Given the description of an element on the screen output the (x, y) to click on. 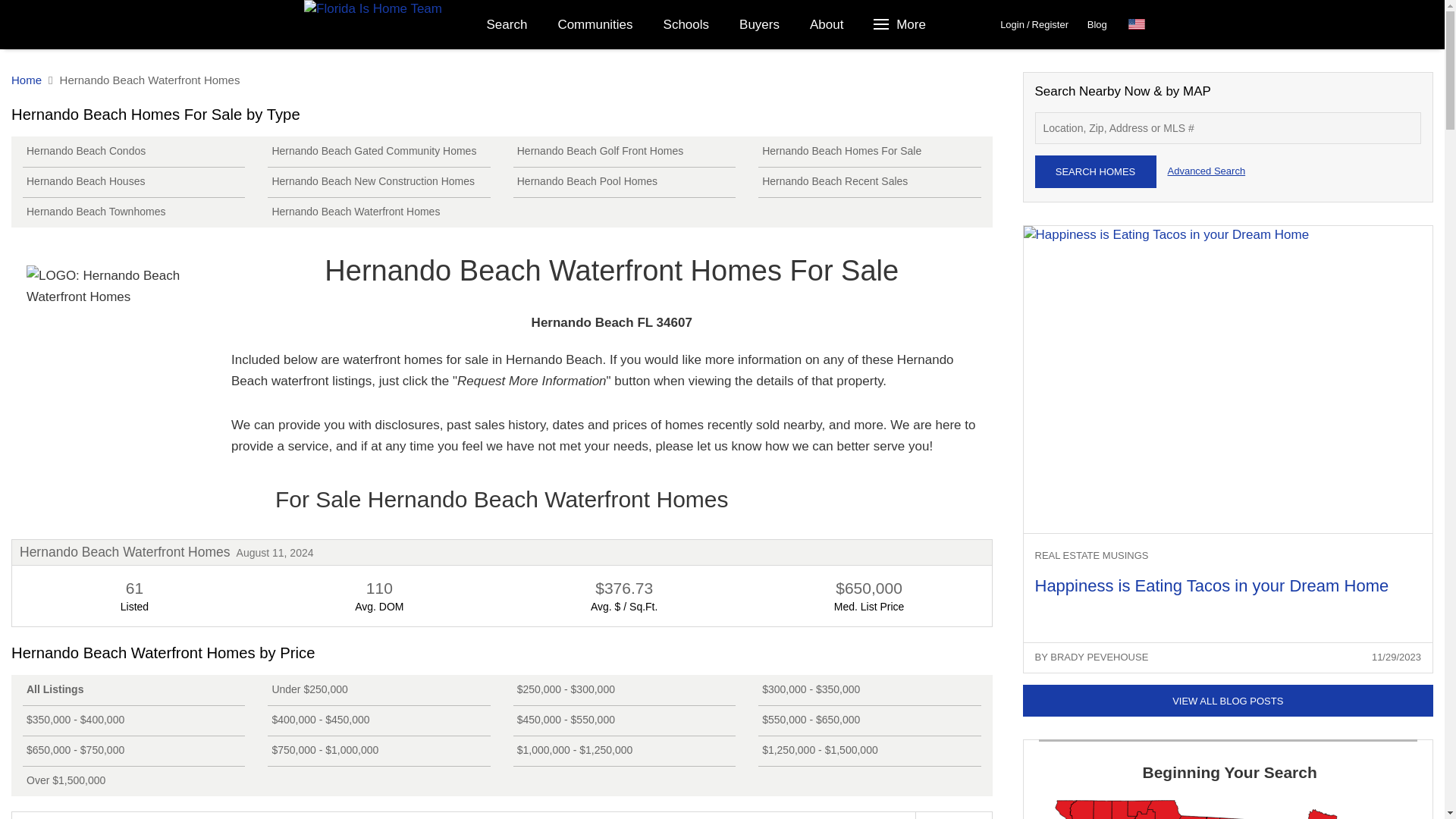
View Hernando Beach Gated Community Homes (378, 151)
Blog (1096, 24)
Communities (594, 24)
View Hernando Beach Condos (133, 151)
Buyers (758, 24)
View Hernando Beach Pool Homes (624, 182)
View Hernando Beach New Construction Homes  (378, 182)
View Hernando Beach Recent Sales (868, 182)
About (826, 24)
View Hernando Beach Golf Front Homes (624, 151)
